Given the description of an element on the screen output the (x, y) to click on. 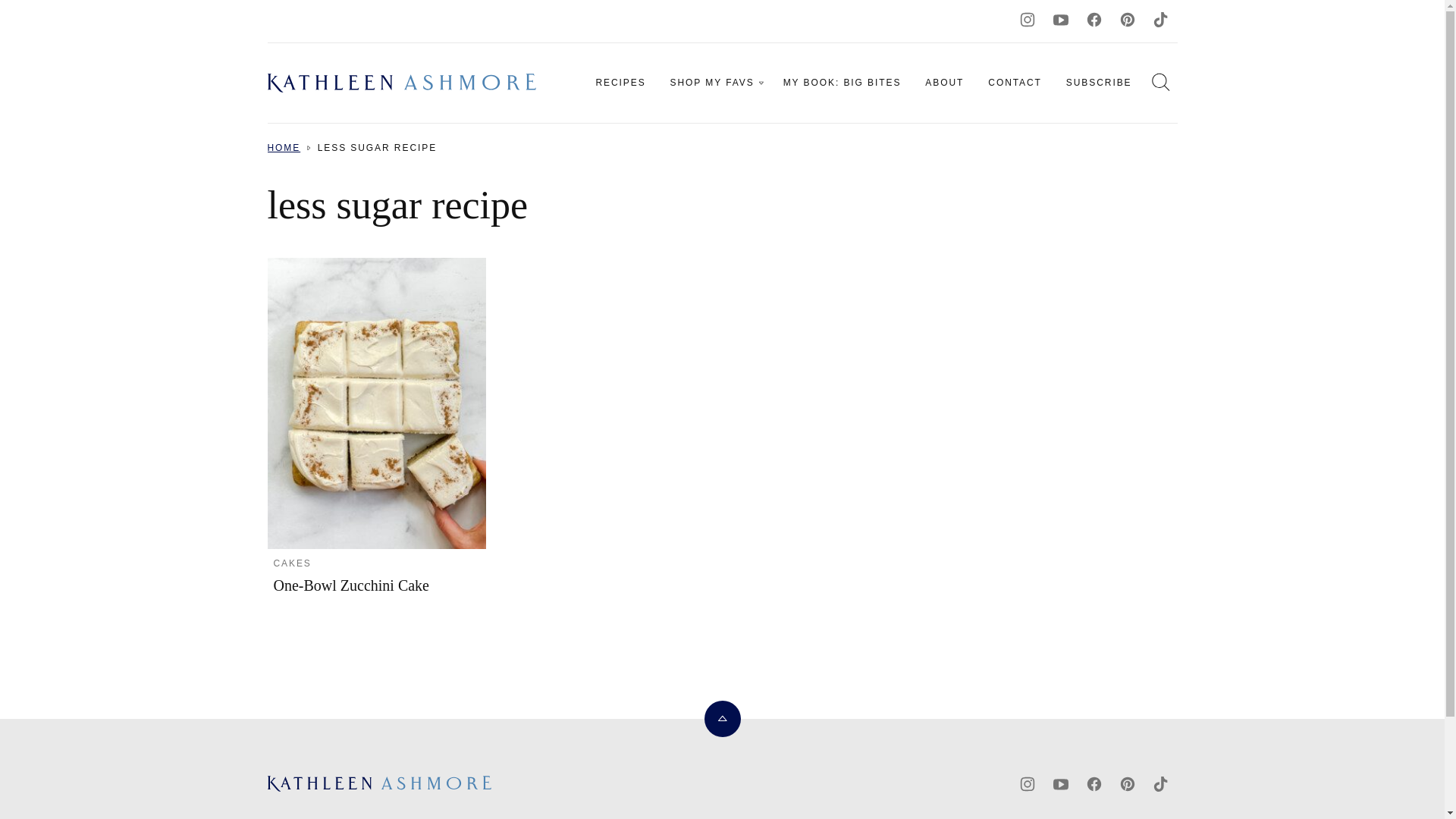
SHOP MY FAVS (714, 82)
HOME (282, 147)
ABOUT (943, 82)
One-Bowl Zucchini Cake (351, 585)
Kathleen Ashmore (403, 783)
SUBSCRIBE (1099, 82)
MY BOOK: BIG BITES (842, 82)
RECIPES (620, 82)
CONTACT (1014, 82)
Back to top (721, 719)
